Given the description of an element on the screen output the (x, y) to click on. 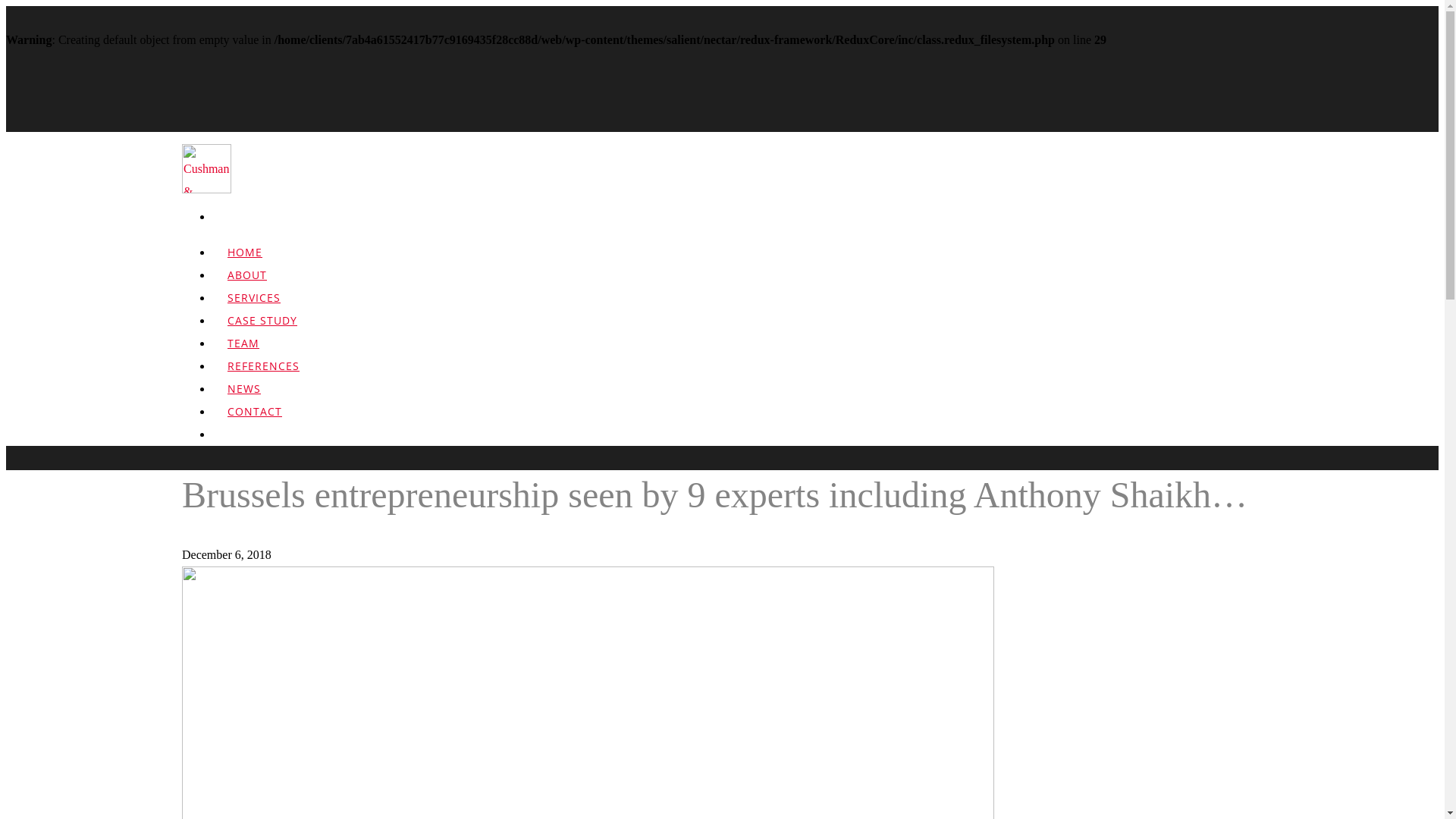
TEAM Element type: text (243, 353)
CONTACT Element type: text (254, 421)
CASE STUDY Element type: text (262, 330)
NEWS Element type: text (244, 399)
ABOUT Element type: text (247, 285)
REFERENCES Element type: text (263, 376)
HOME Element type: text (244, 262)
GO TO CORPORATE WEBSITE Element type: text (1301, 780)
SERVICES Element type: text (253, 308)
